Given the description of an element on the screen output the (x, y) to click on. 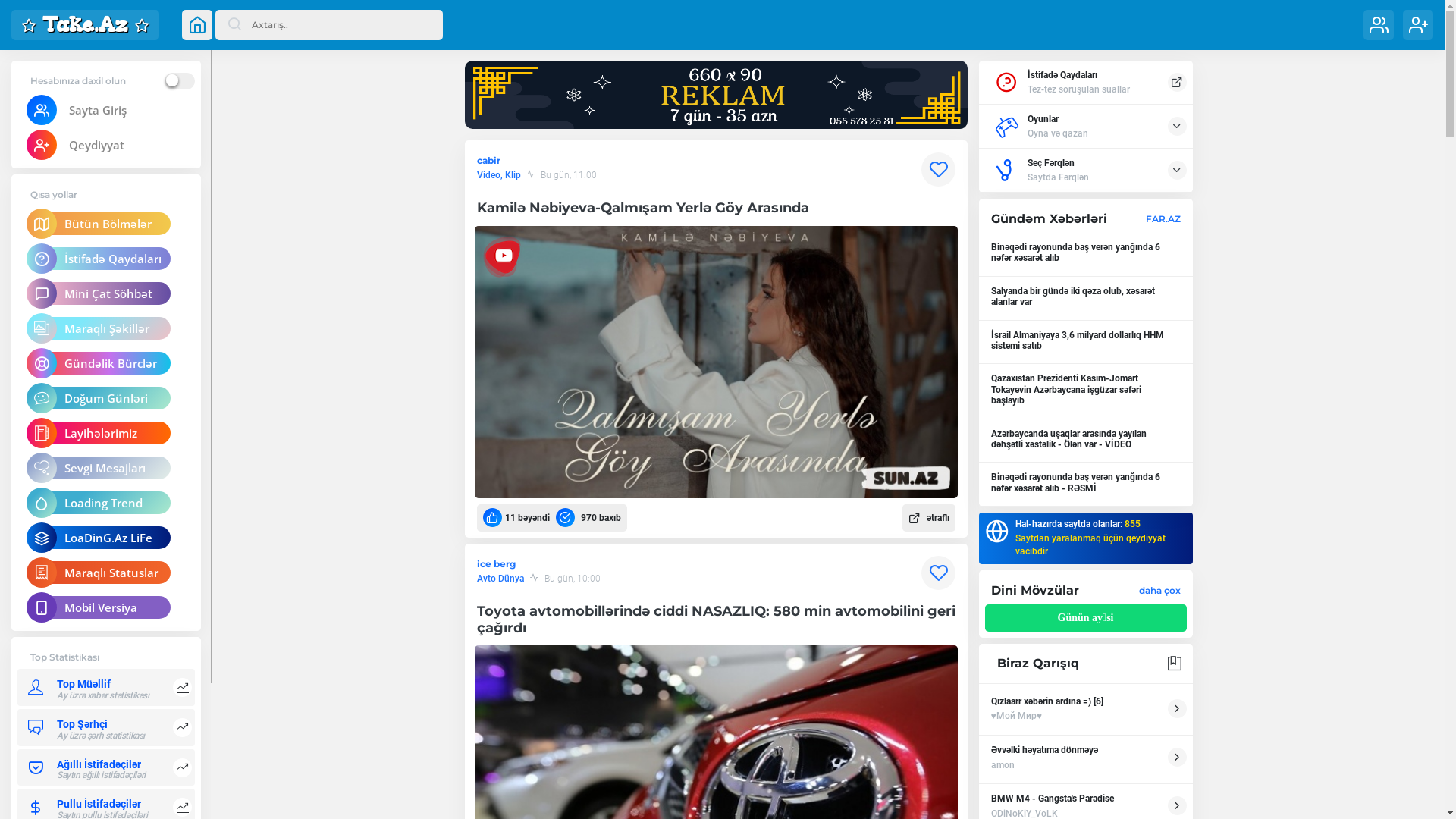
ice berg Element type: text (495, 563)
cabir Element type: text (487, 160)
Take.Az Element type: text (85, 24)
reklam Element type: hover (715, 94)
FAR.AZ Element type: text (1162, 218)
Mobil Versiya Element type: text (106, 607)
Video, Klip Element type: text (498, 174)
Qeydiyyat Element type: text (106, 144)
LoaDinG.Az LiFe Element type: text (106, 537)
Loading Trend Element type: text (106, 502)
